Given the description of an element on the screen output the (x, y) to click on. 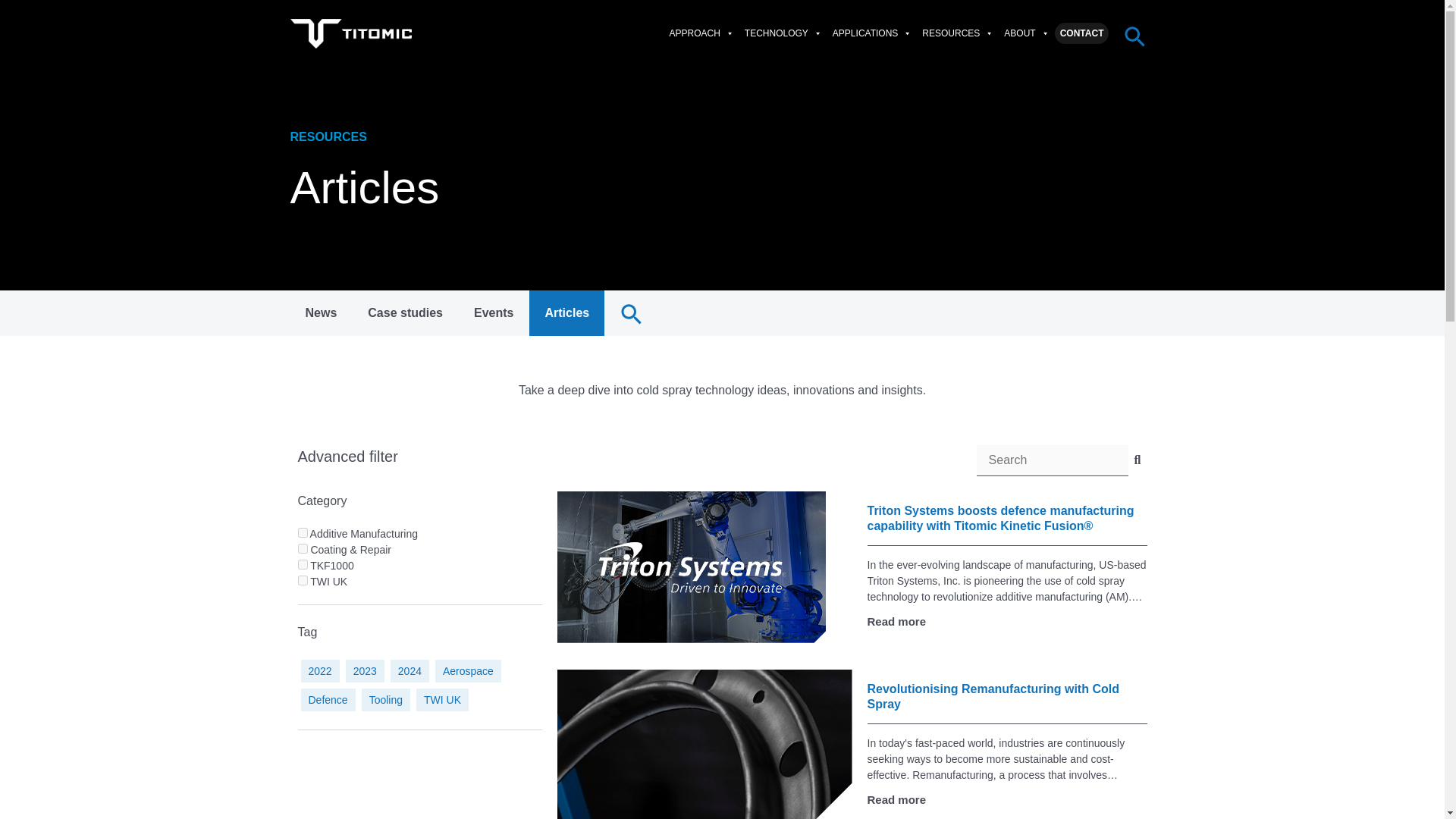
Search (1052, 460)
additive-manufacturing (302, 532)
RESOURCES (957, 33)
twi-uk (302, 580)
TECHNOLOGY (783, 33)
APPROACH (700, 33)
tkf1000 (302, 564)
APPLICATIONS (872, 33)
coating-repair (302, 548)
